Given the description of an element on the screen output the (x, y) to click on. 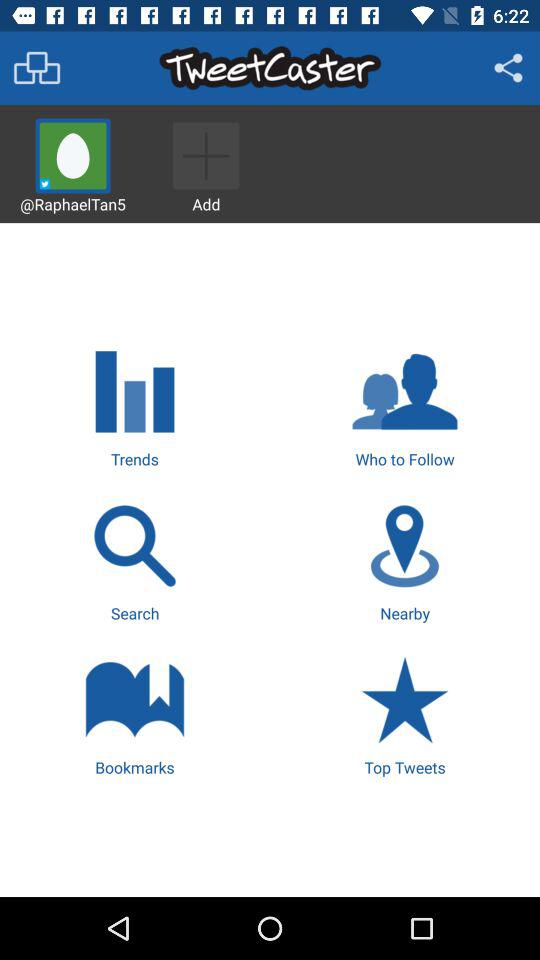
select the icon to the left of top tweets icon (134, 714)
